Given the description of an element on the screen output the (x, y) to click on. 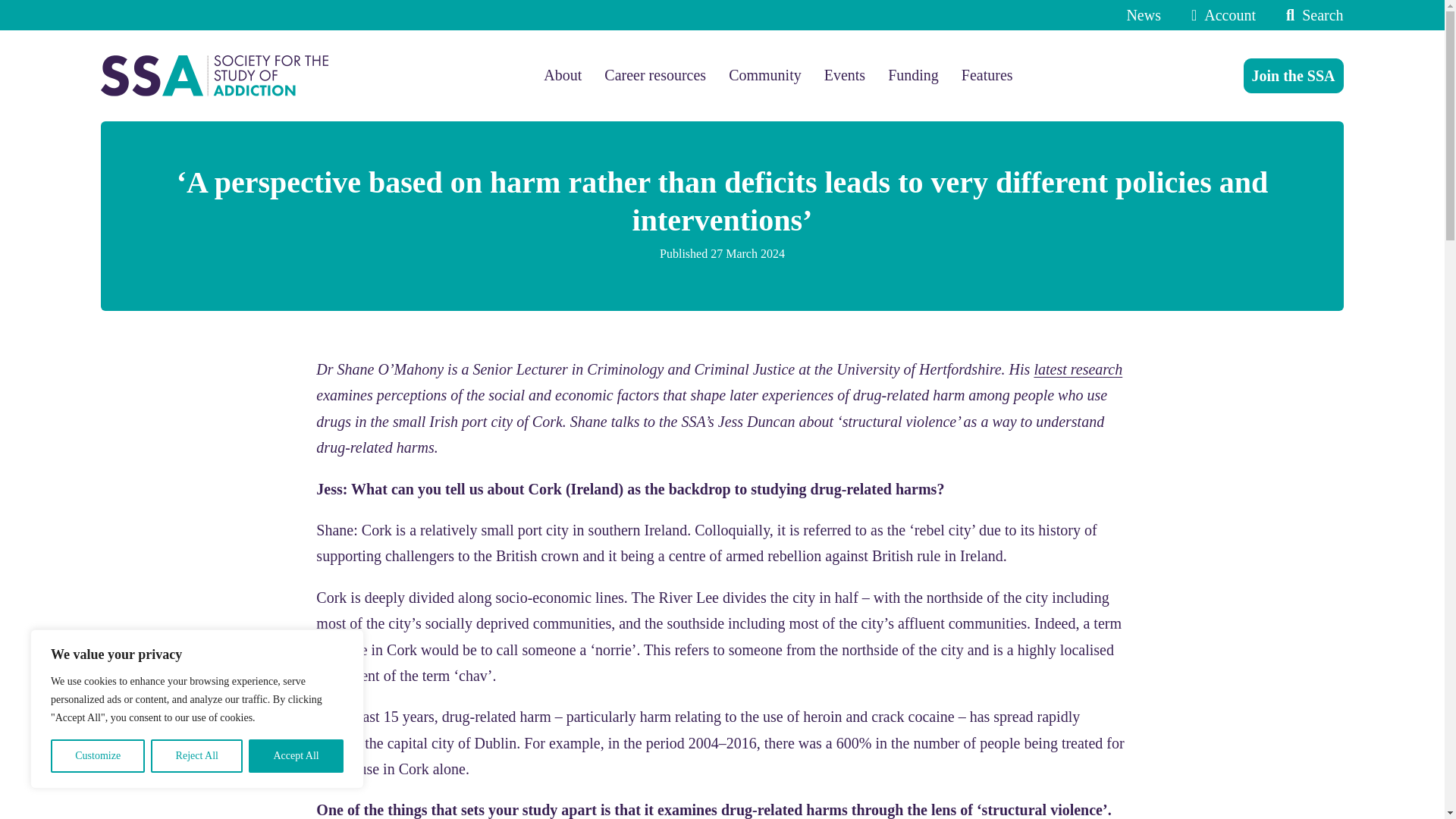
Customize (97, 756)
Join the SSA (1293, 75)
Funding (913, 75)
Features (986, 75)
latest research (1077, 369)
Events (844, 75)
News (1142, 14)
Reject All (197, 756)
Community (765, 75)
Search (1310, 14)
